Given the description of an element on the screen output the (x, y) to click on. 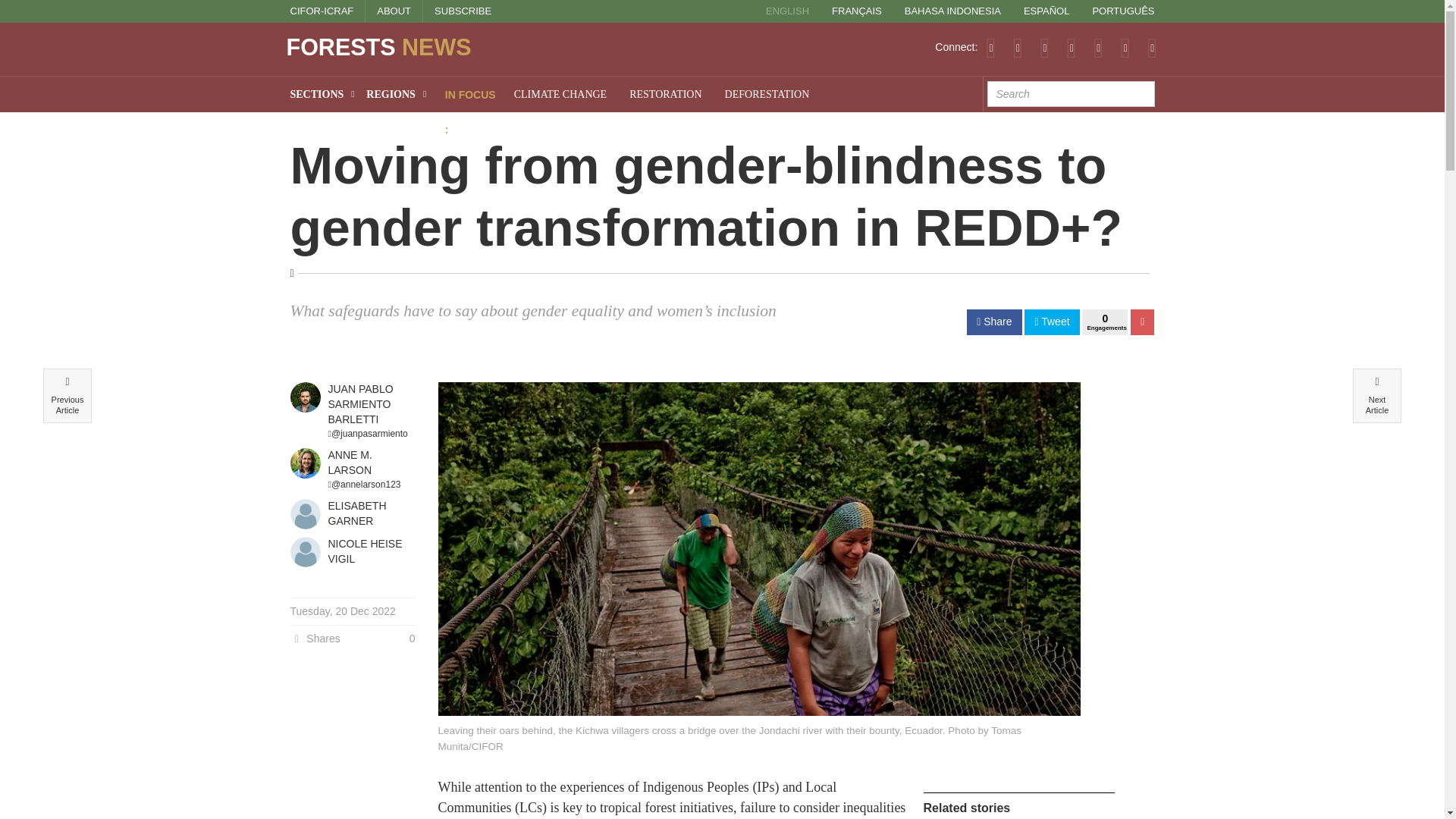
ABOUT (393, 10)
Instagram (1125, 46)
Email (1152, 46)
BAHASA INDONESIA (952, 11)
CIFOR-ICRAF (321, 10)
Share on Facebook (994, 321)
Youtube (1098, 46)
Twitter (1017, 46)
ENGLISH (787, 11)
Facebook (1044, 46)
SUBSCRIBE (462, 10)
LinkedIn (1071, 46)
Feed (990, 46)
